Given the description of an element on the screen output the (x, y) to click on. 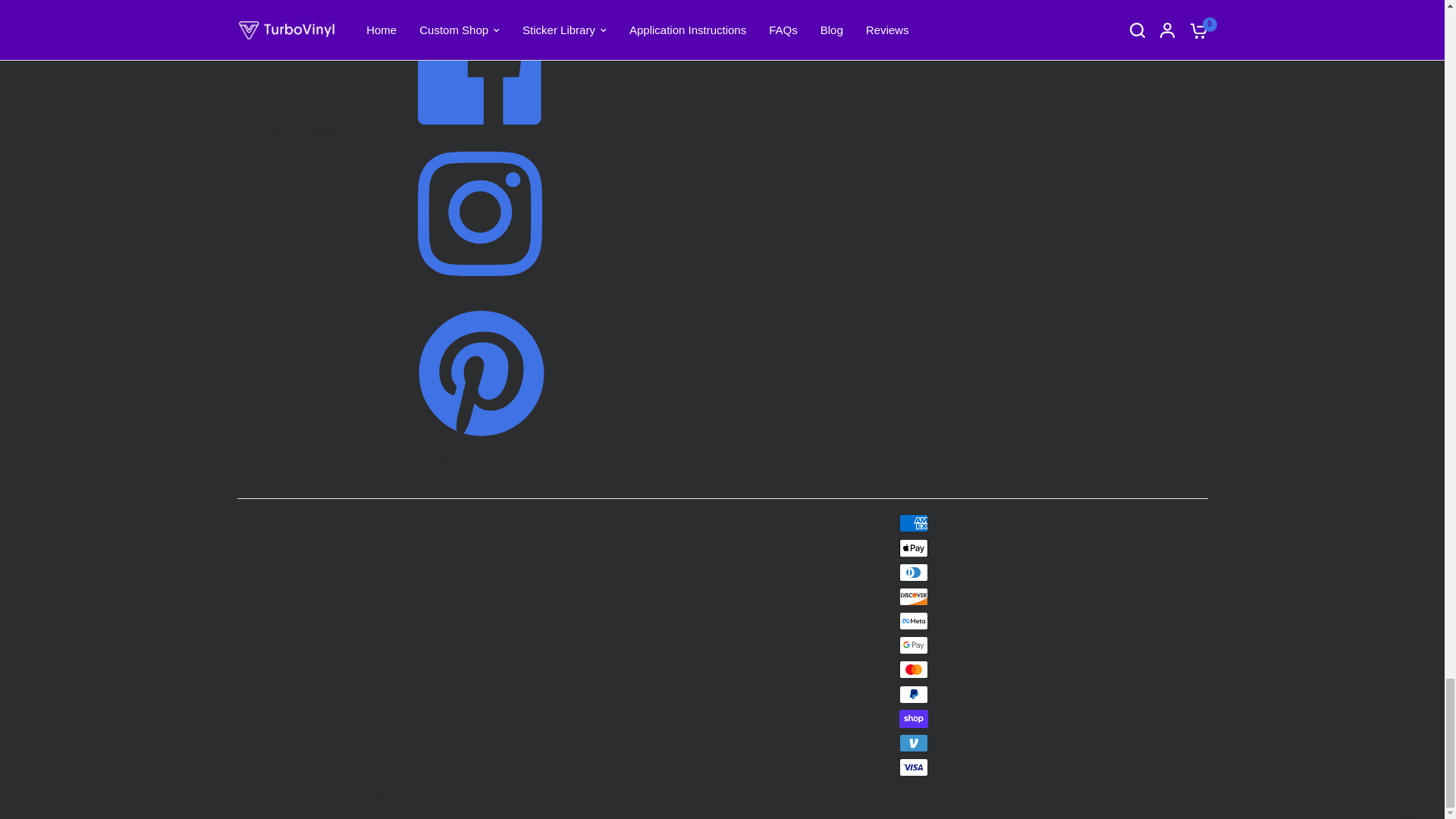
Google Pay (913, 645)
Apple Pay (913, 547)
American Express (913, 523)
Meta Pay (913, 620)
Diners Club (913, 572)
Discover (913, 597)
